Given the description of an element on the screen output the (x, y) to click on. 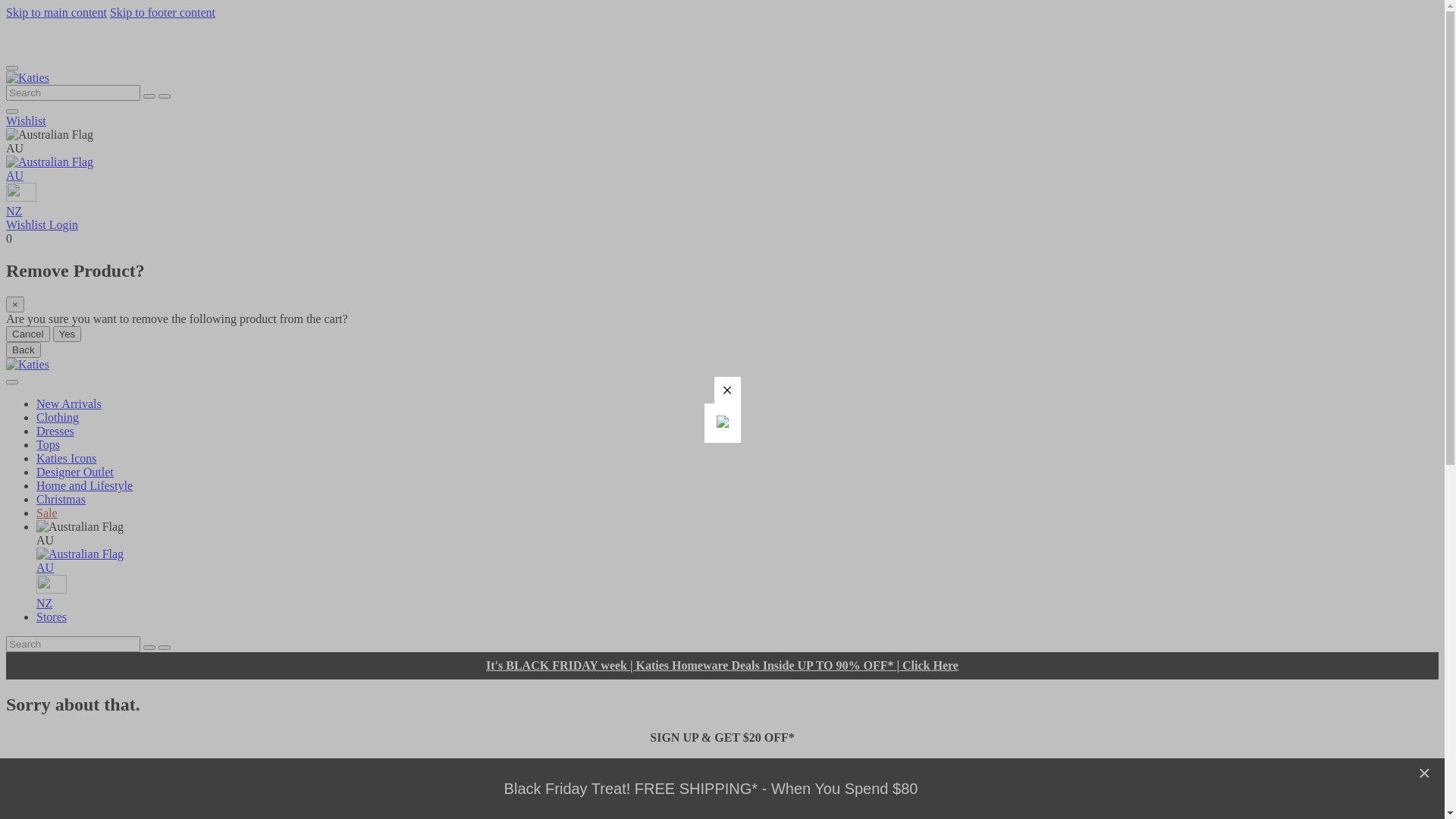
Tops Element type: text (47, 444)
Skip to footer content Element type: text (162, 12)
Free Australian Delivery on orders over $150* Element type: text (125, 37)
Katies Element type: hover (27, 77)
Christmas Element type: text (60, 498)
Stores Element type: text (51, 616)
NZ Element type: text (722, 200)
Home and Lifestyle Element type: text (84, 485)
Yes Element type: text (67, 334)
Wishlist Element type: text (27, 224)
Katies Element type: hover (27, 363)
Login Element type: text (63, 224)
Designer Outlet Element type: text (74, 471)
Sale Element type: text (46, 512)
New Arrivals Element type: text (68, 403)
Clothing Element type: text (57, 417)
Katies Icons Element type: text (66, 457)
AU Element type: text (737, 560)
Skip to main content Element type: text (56, 12)
AU Element type: text (722, 168)
Cancel Element type: text (28, 334)
Dresses Element type: text (55, 430)
0 Element type: text (9, 238)
Wishlist Element type: text (26, 120)
NZ Element type: text (737, 592)
Back Element type: text (23, 349)
